Given the description of an element on the screen output the (x, y) to click on. 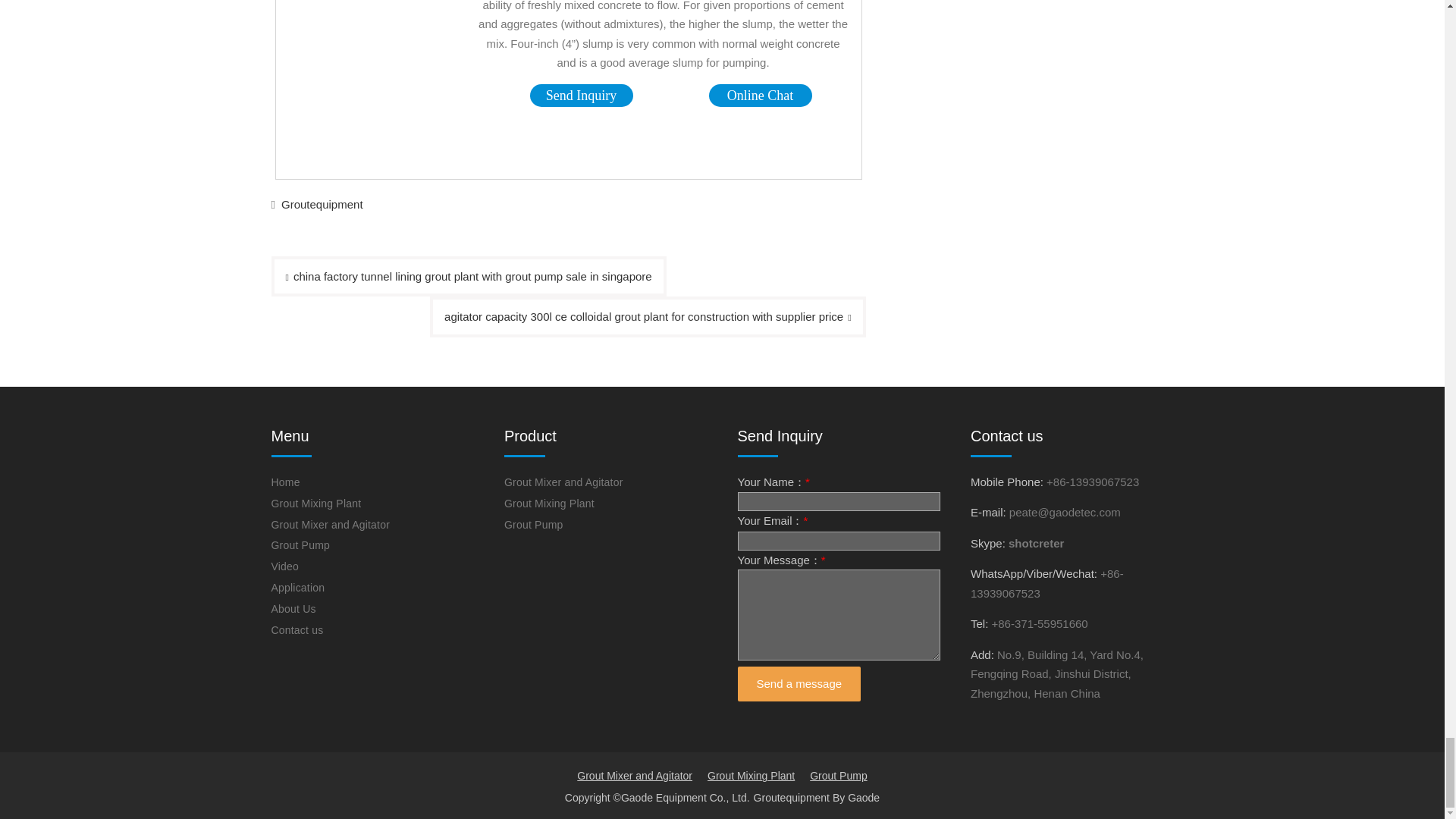
Send a message (798, 683)
